Given the description of an element on the screen output the (x, y) to click on. 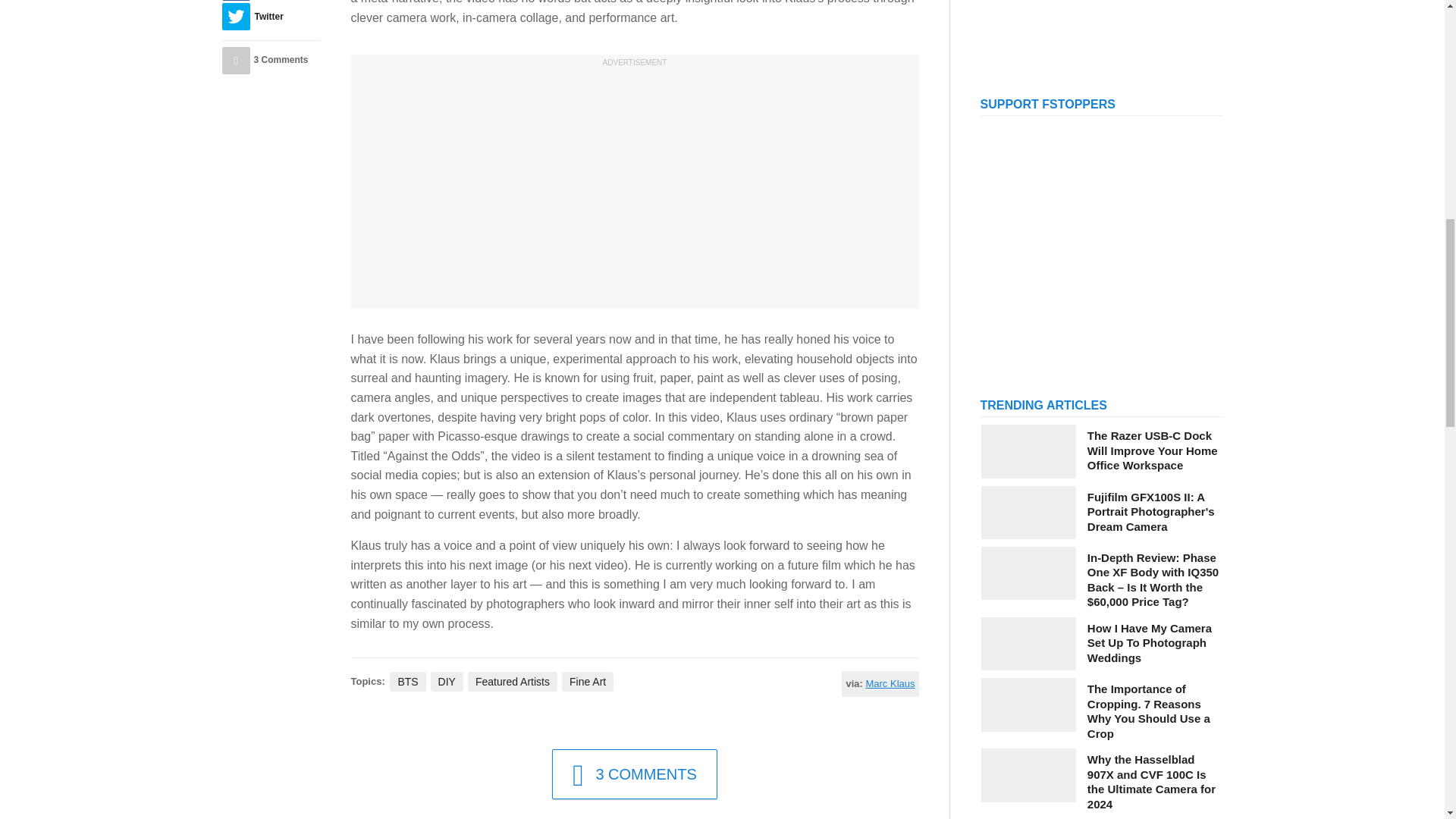
DIY (446, 681)
3 COMMENTS (634, 774)
Featured Artists (512, 681)
Fine Art (587, 681)
3 Comments (270, 60)
Marc Klaus (889, 683)
BTS (407, 681)
